Given the description of an element on the screen output the (x, y) to click on. 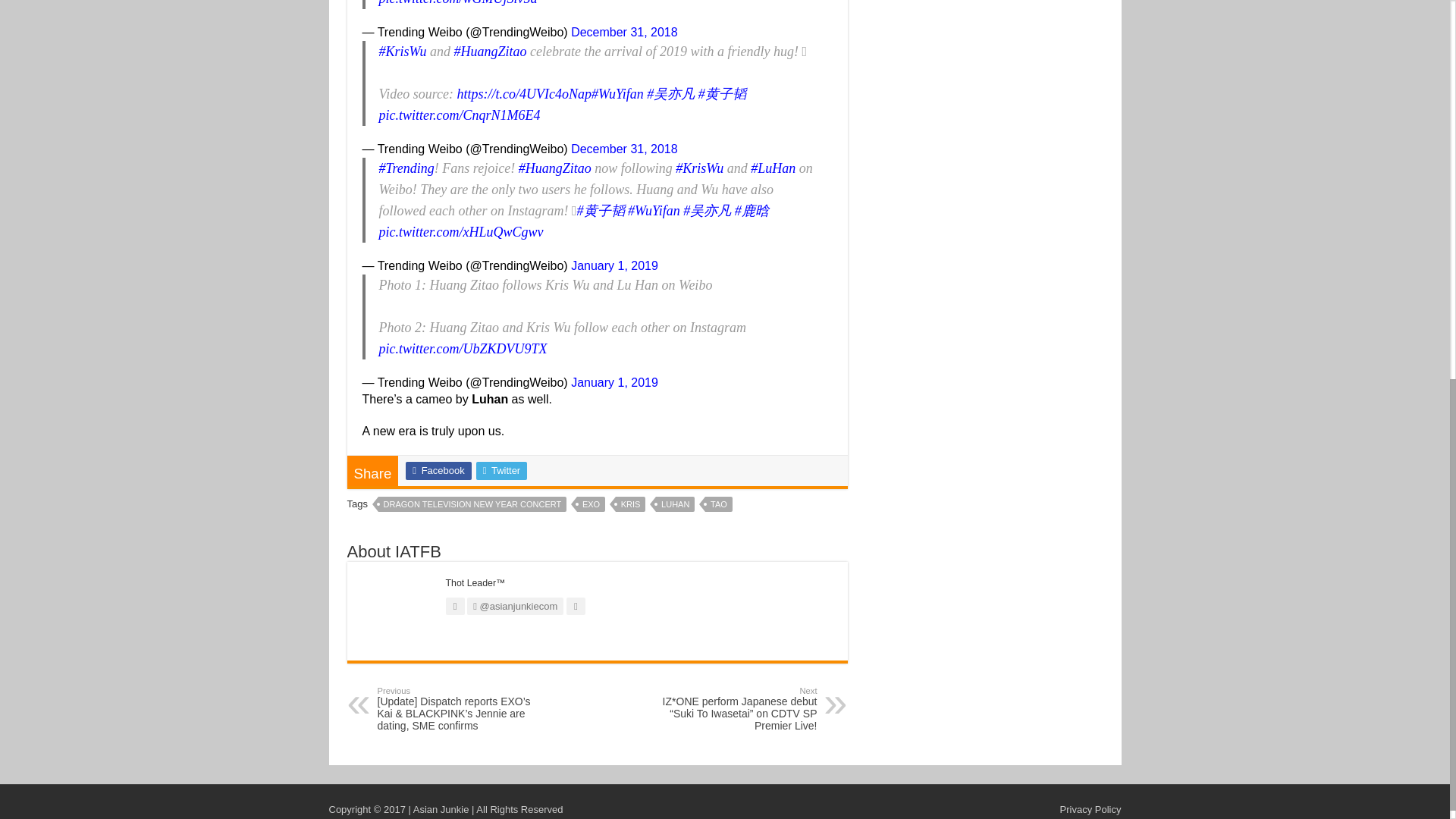
December 31, 2018 (624, 31)
Scroll To Top (1427, 158)
